Given the description of an element on the screen output the (x, y) to click on. 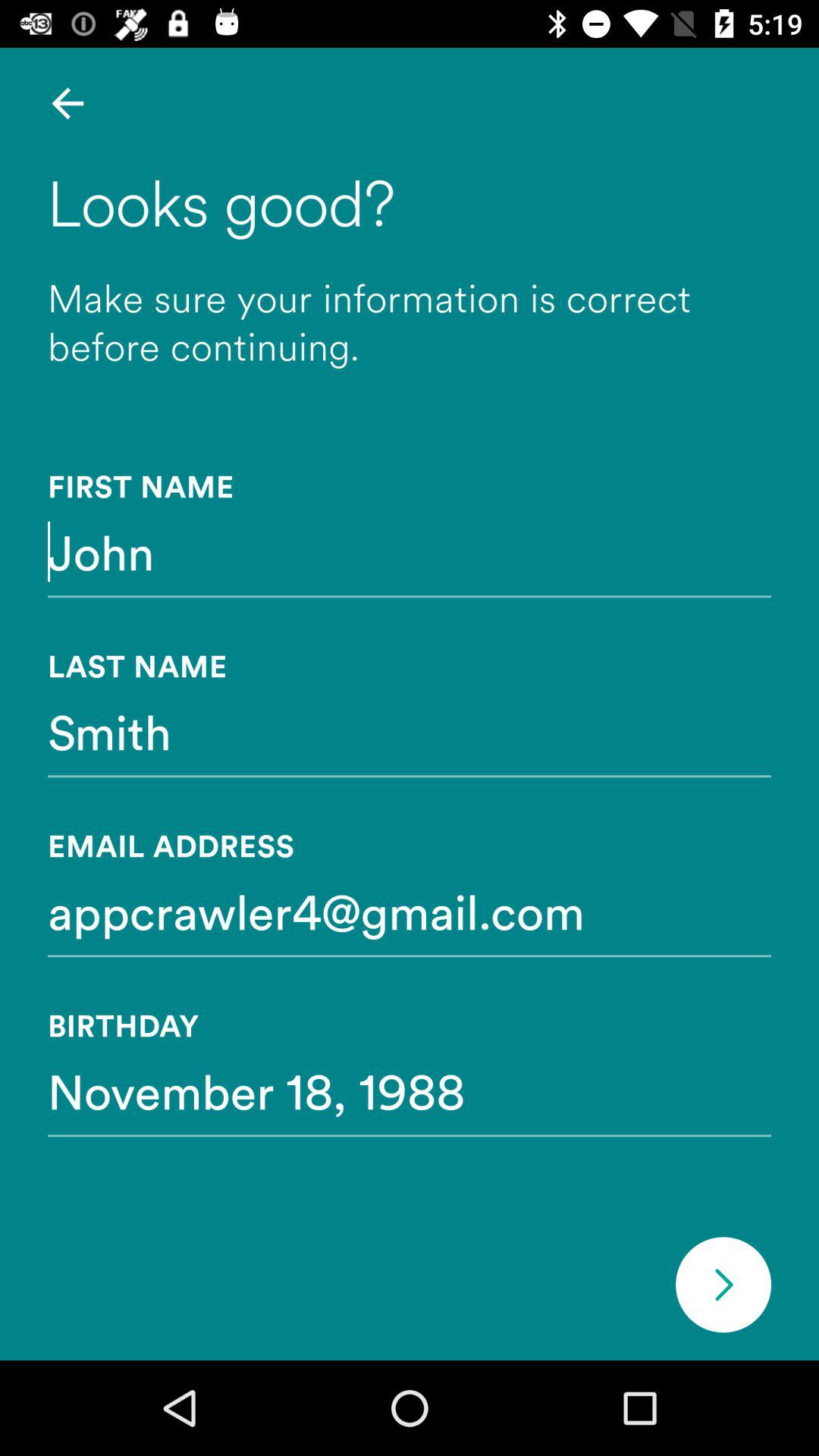
select the john item (409, 551)
